Given the description of an element on the screen output the (x, y) to click on. 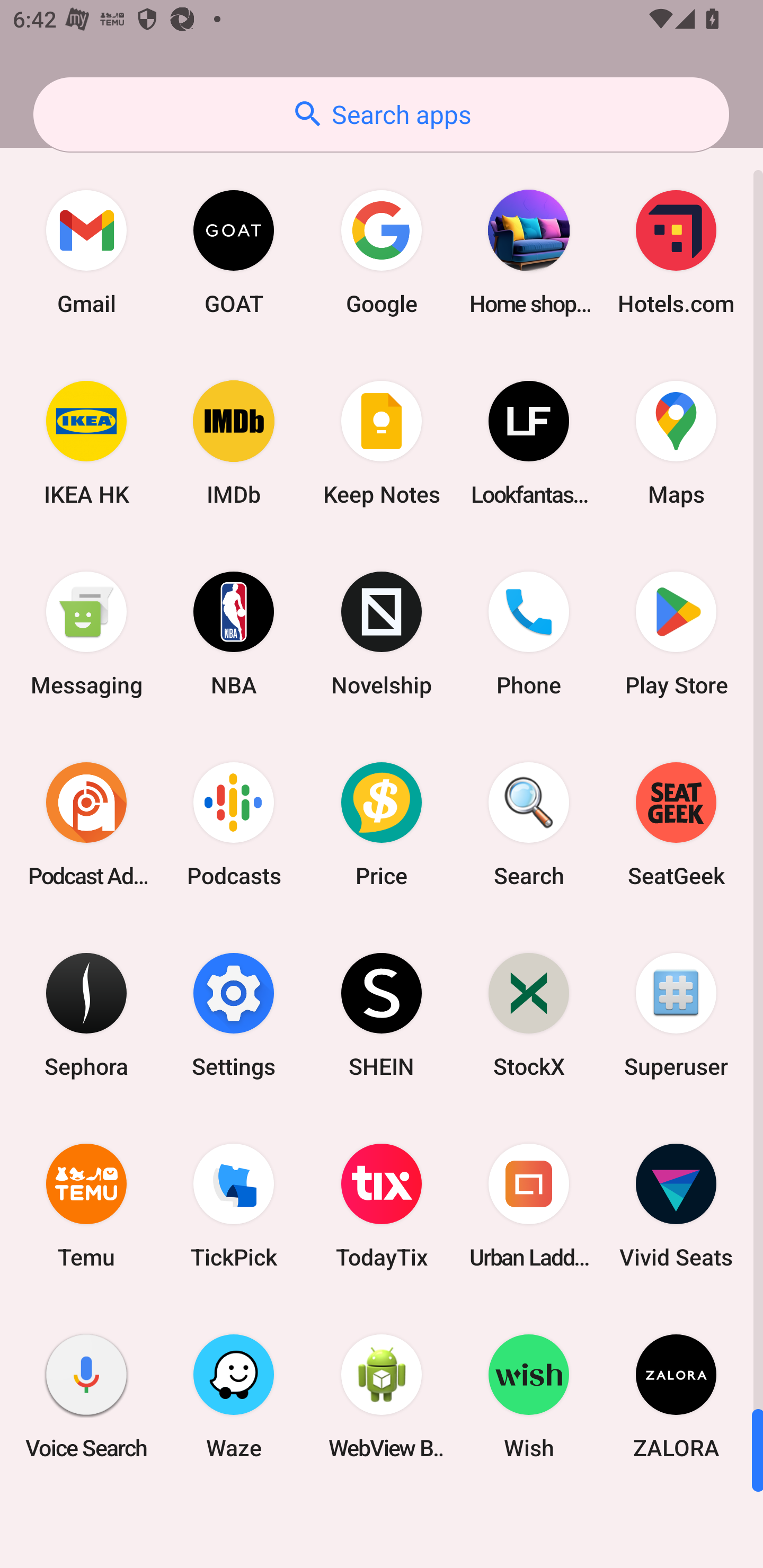
  Search apps (381, 114)
Gmail (86, 252)
GOAT (233, 252)
Google (381, 252)
Home shopping (528, 252)
Hotels.com (676, 252)
IKEA HK (86, 442)
IMDb (233, 442)
Keep Notes (381, 442)
Lookfantastic (528, 442)
Maps (676, 442)
Messaging (86, 633)
NBA (233, 633)
Novelship (381, 633)
Phone (528, 633)
Play Store (676, 633)
Podcast Addict (86, 823)
Podcasts (233, 823)
Price (381, 823)
Search (528, 823)
SeatGeek (676, 823)
Sephora (86, 1014)
Settings (233, 1014)
SHEIN (381, 1014)
StockX (528, 1014)
Superuser (676, 1014)
Temu (86, 1205)
TickPick (233, 1205)
TodayTix (381, 1205)
Urban Ladder (528, 1205)
Vivid Seats (676, 1205)
Voice Search (86, 1396)
Waze (233, 1396)
WebView Browser Tester (381, 1396)
Wish (528, 1396)
ZALORA (676, 1396)
